Given the description of an element on the screen output the (x, y) to click on. 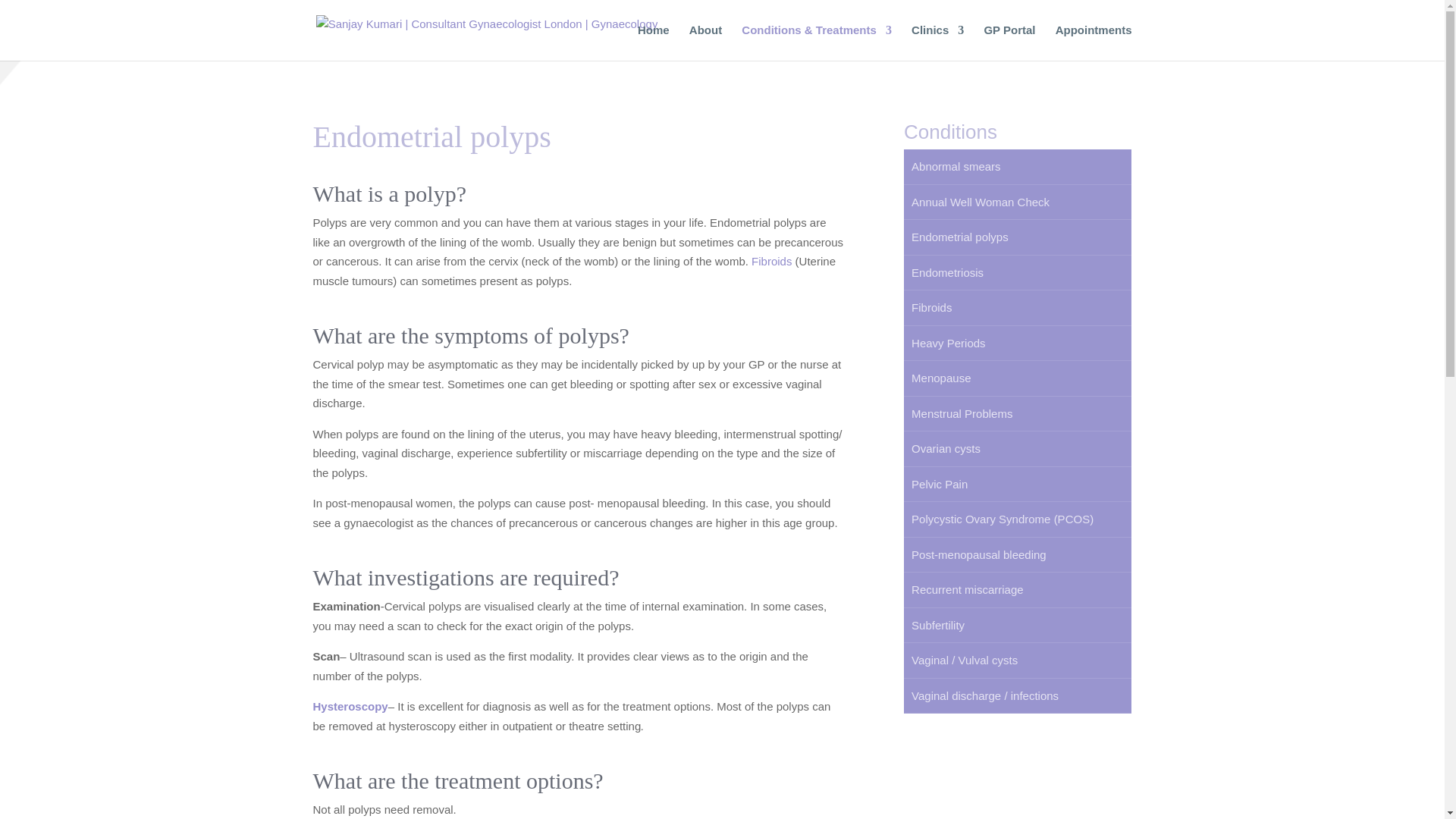
Clinics (937, 42)
GP Portal (1009, 42)
Home (653, 42)
About (705, 42)
Appointments (1093, 42)
